Given the description of an element on the screen output the (x, y) to click on. 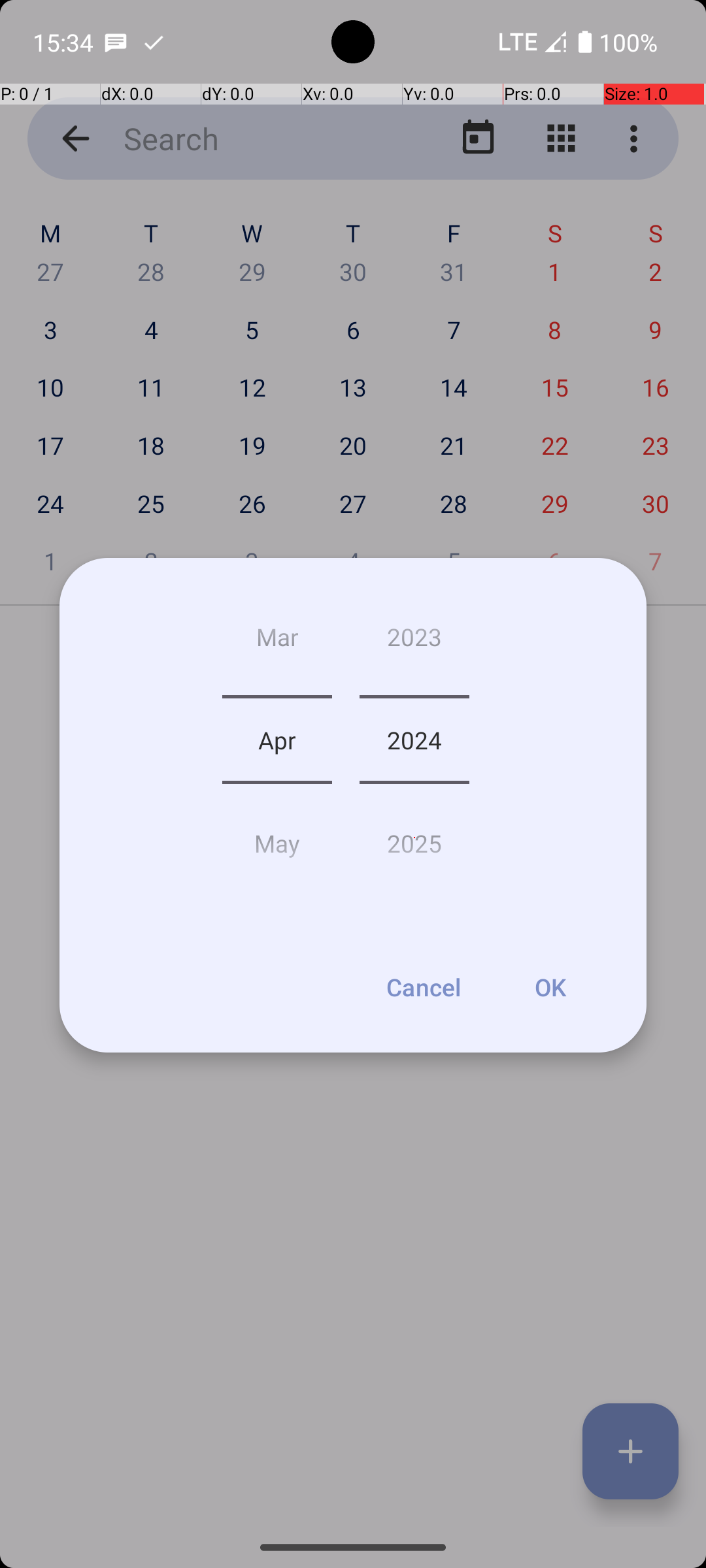
Mar Element type: android.widget.Button (277, 641)
Apr Element type: android.widget.EditText (277, 739)
May Element type: android.widget.Button (277, 837)
